Given the description of an element on the screen output the (x, y) to click on. 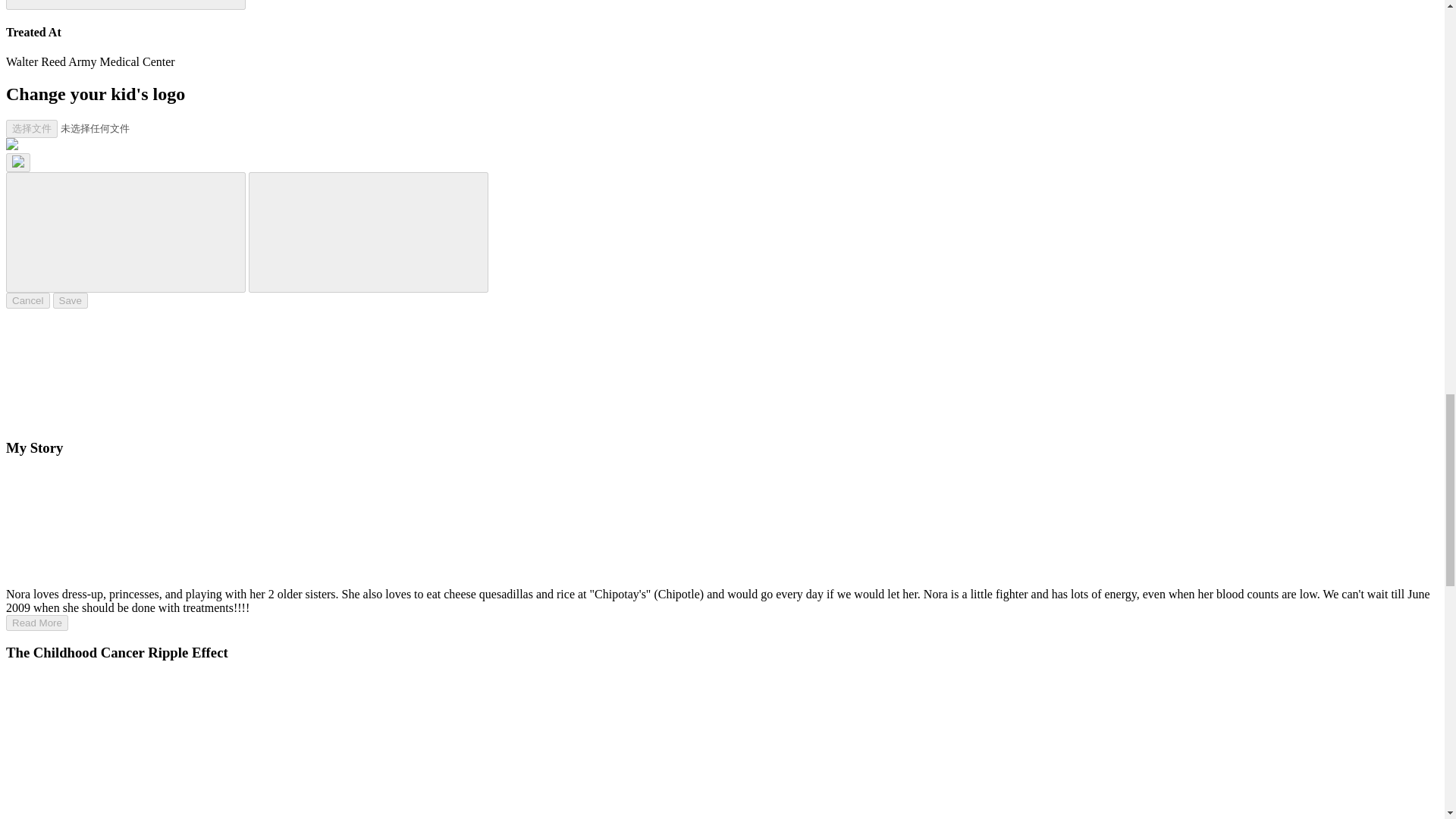
Read More (36, 622)
Cancel (27, 300)
Save (69, 300)
